Given the description of an element on the screen output the (x, y) to click on. 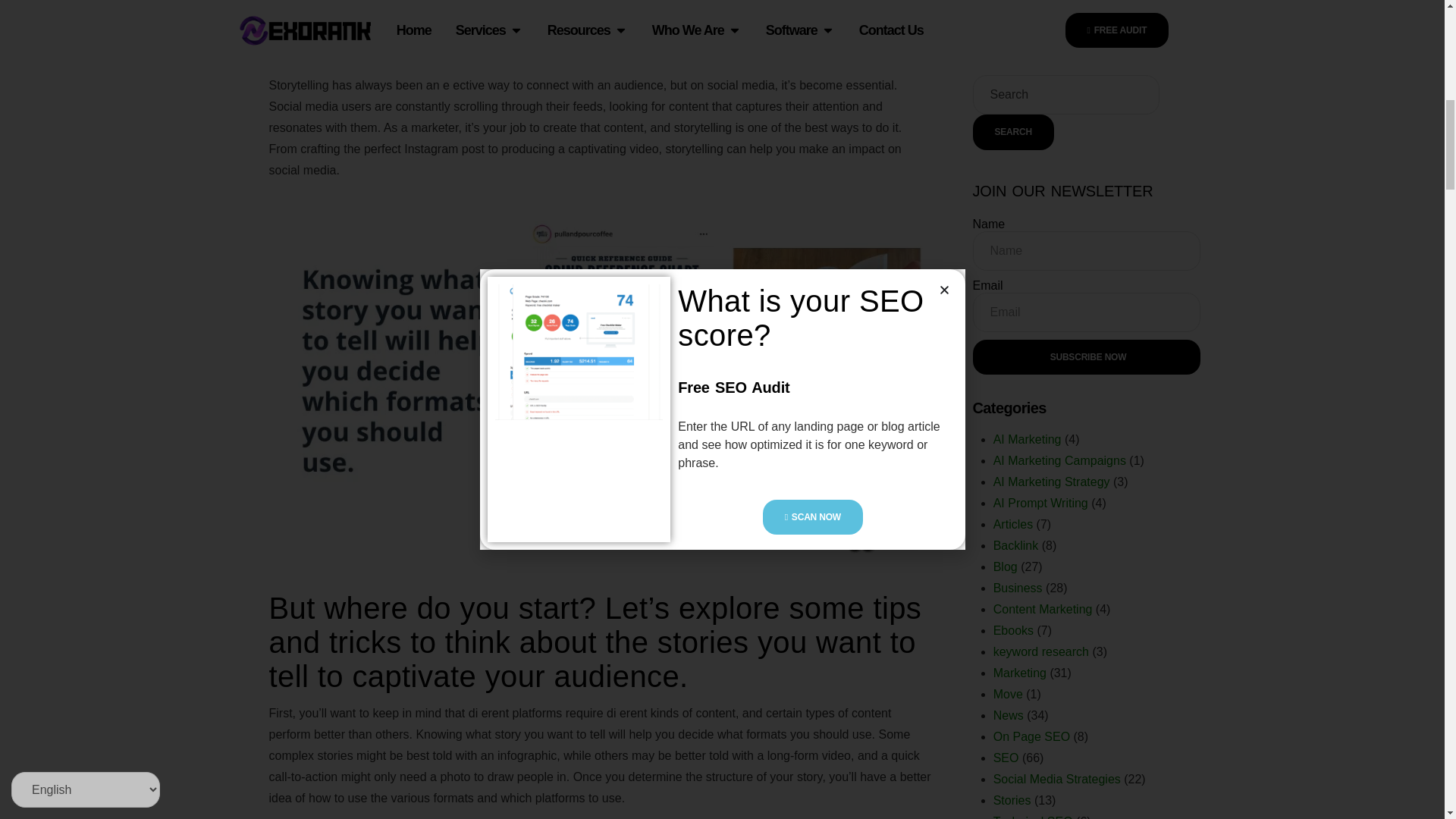
Advertisement (716, 22)
Advertisement (396, 22)
Search (1012, 131)
Advertisement (1037, 22)
